Given the description of an element on the screen output the (x, y) to click on. 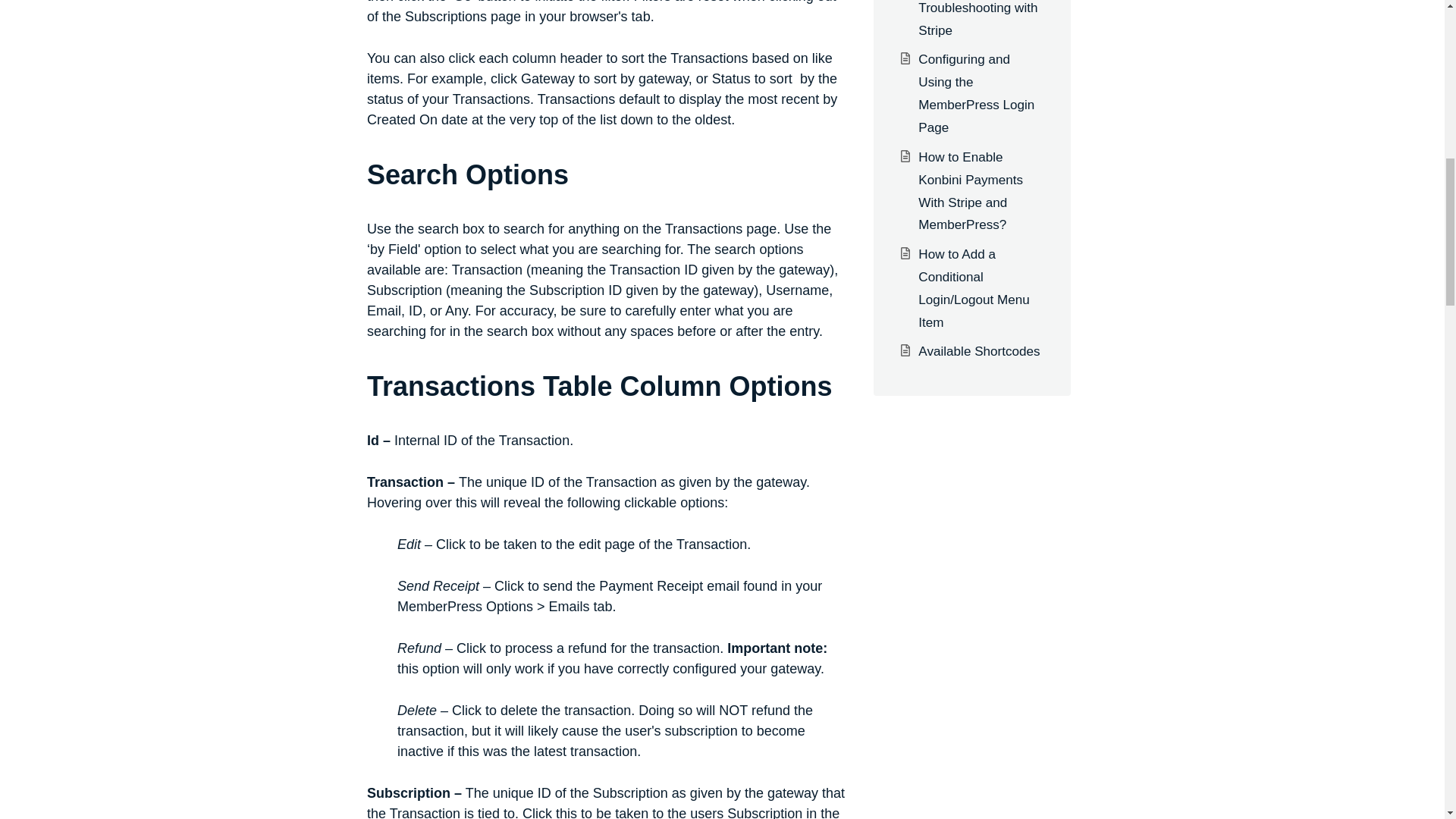
Configuring and Troubleshooting with Stripe (977, 18)
How to Enable Konbini Payments With Stripe and MemberPress? (970, 190)
Configuring and Using the MemberPress Login Page (975, 93)
Available Shortcodes (978, 350)
